Given the description of an element on the screen output the (x, y) to click on. 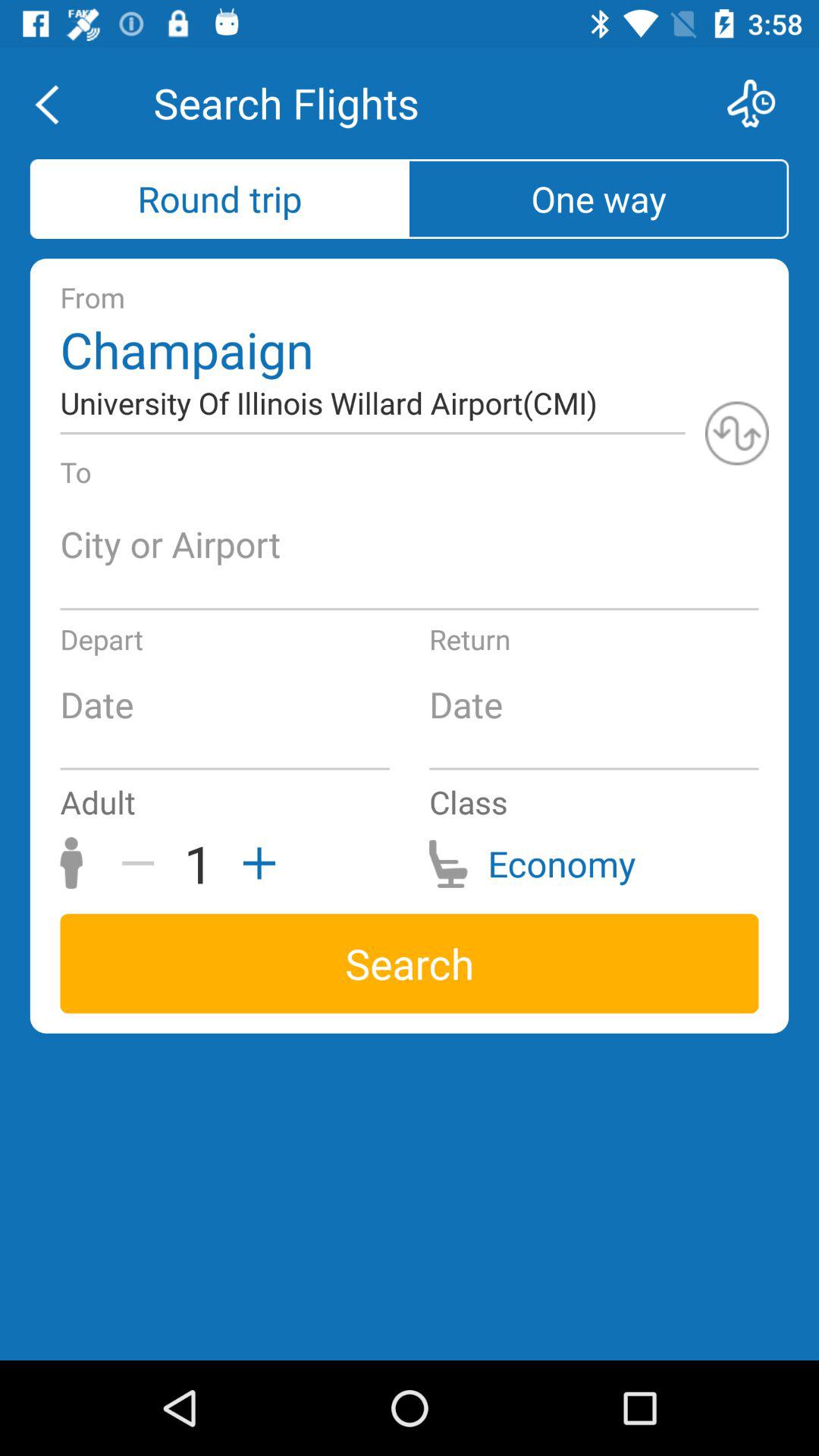
switch departure location with destination (736, 433)
